Given the description of an element on the screen output the (x, y) to click on. 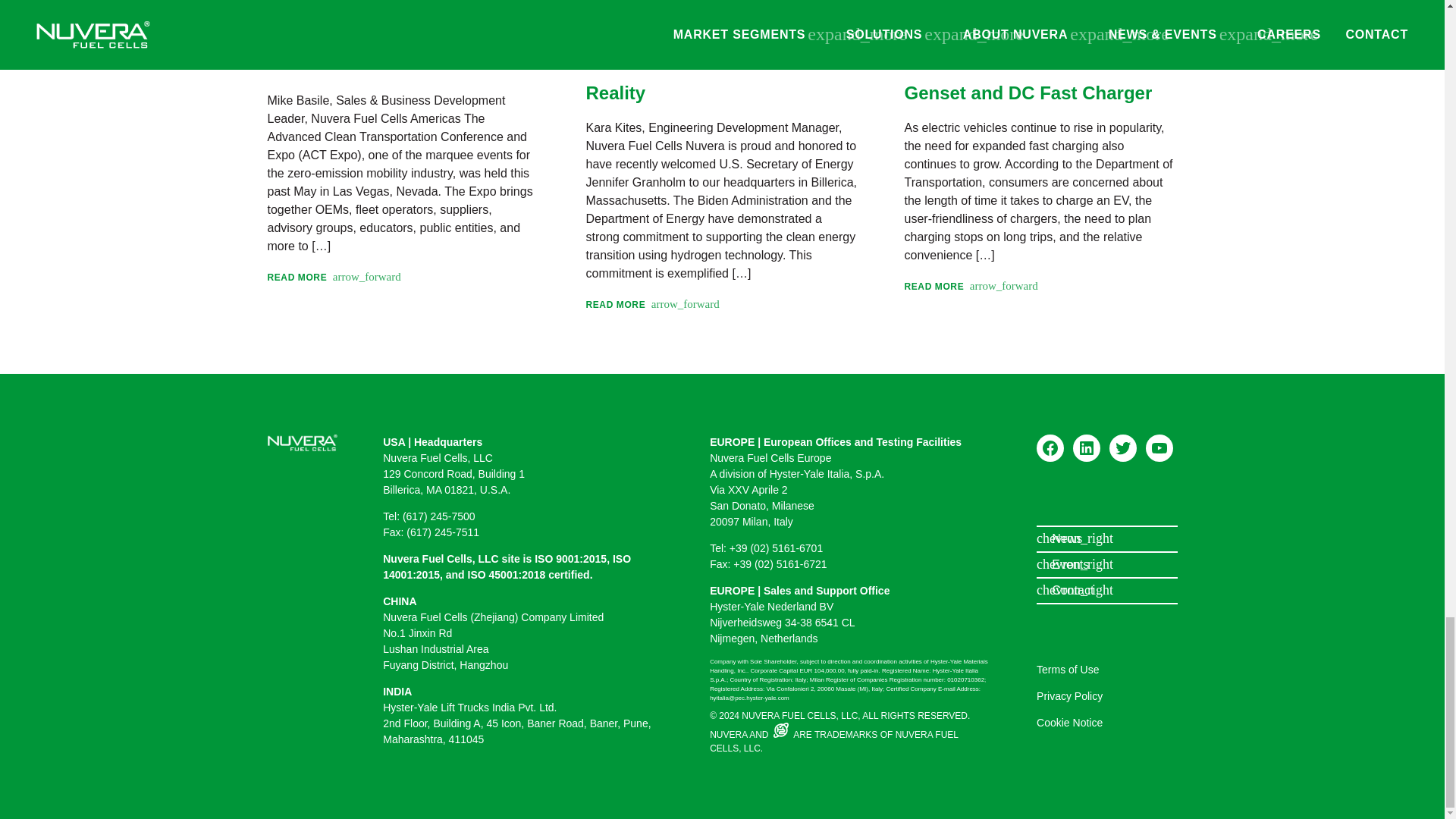
YouTube (1159, 447)
Twitter (1123, 447)
Facebook (1050, 447)
News (1106, 539)
Events (1106, 564)
LinkedIn (1086, 447)
